Given the description of an element on the screen output the (x, y) to click on. 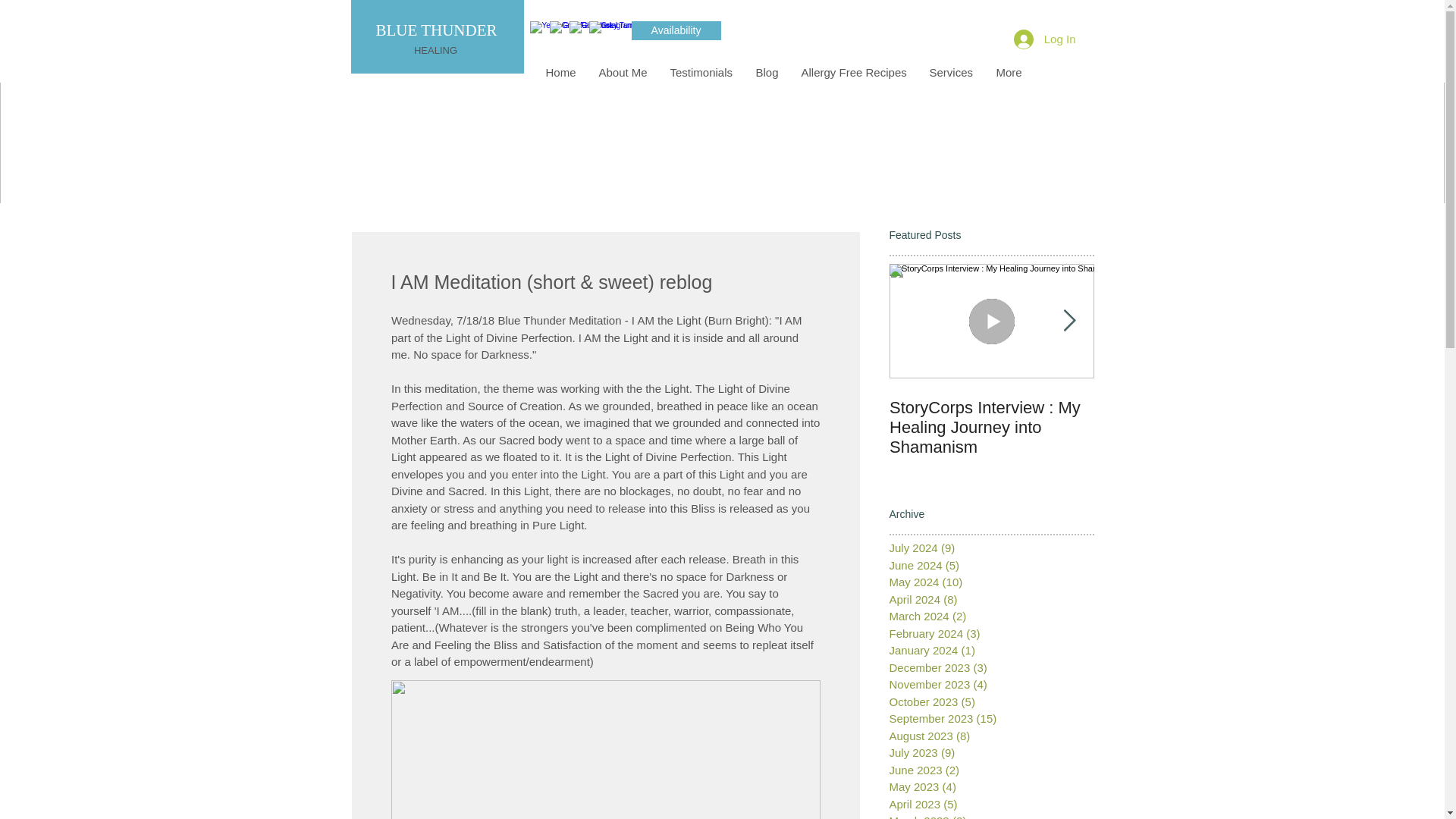
About Me (622, 72)
Log In (1044, 38)
StoryCorps Interview : My Healing Journey into Shamanism (990, 427)
Goddess Message from Minerva: Your Beliefs (1195, 417)
BLUE THUNDER (435, 30)
Blog (767, 72)
Home (560, 72)
Services (950, 72)
Testimonials (701, 72)
Allergy Free Recipes (854, 72)
Availability (675, 30)
